Given the description of an element on the screen output the (x, y) to click on. 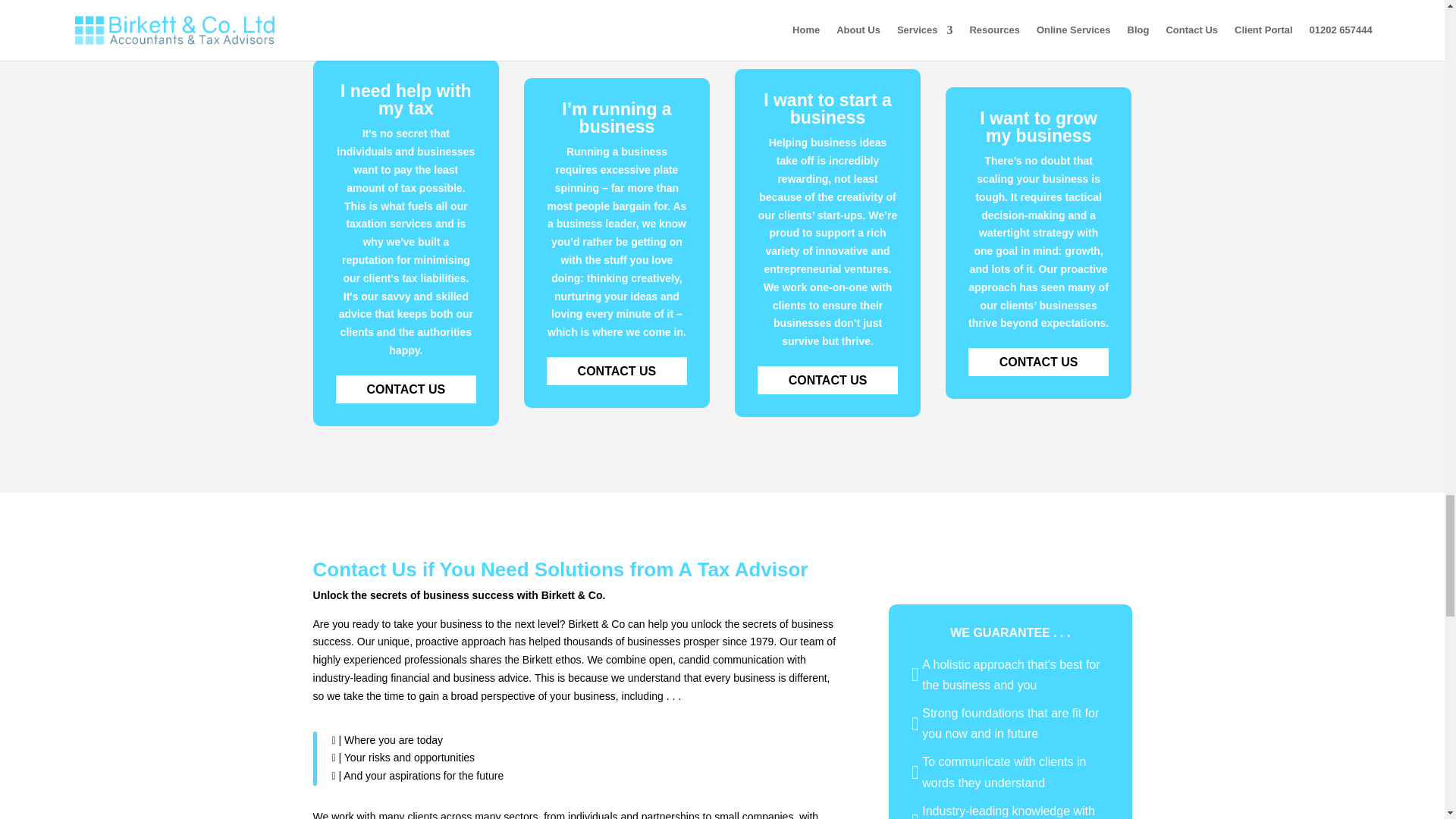
CONTACT US (617, 370)
CONTACT US (827, 379)
CONTACT US (1038, 361)
CONTACT US (406, 389)
